Given the description of an element on the screen output the (x, y) to click on. 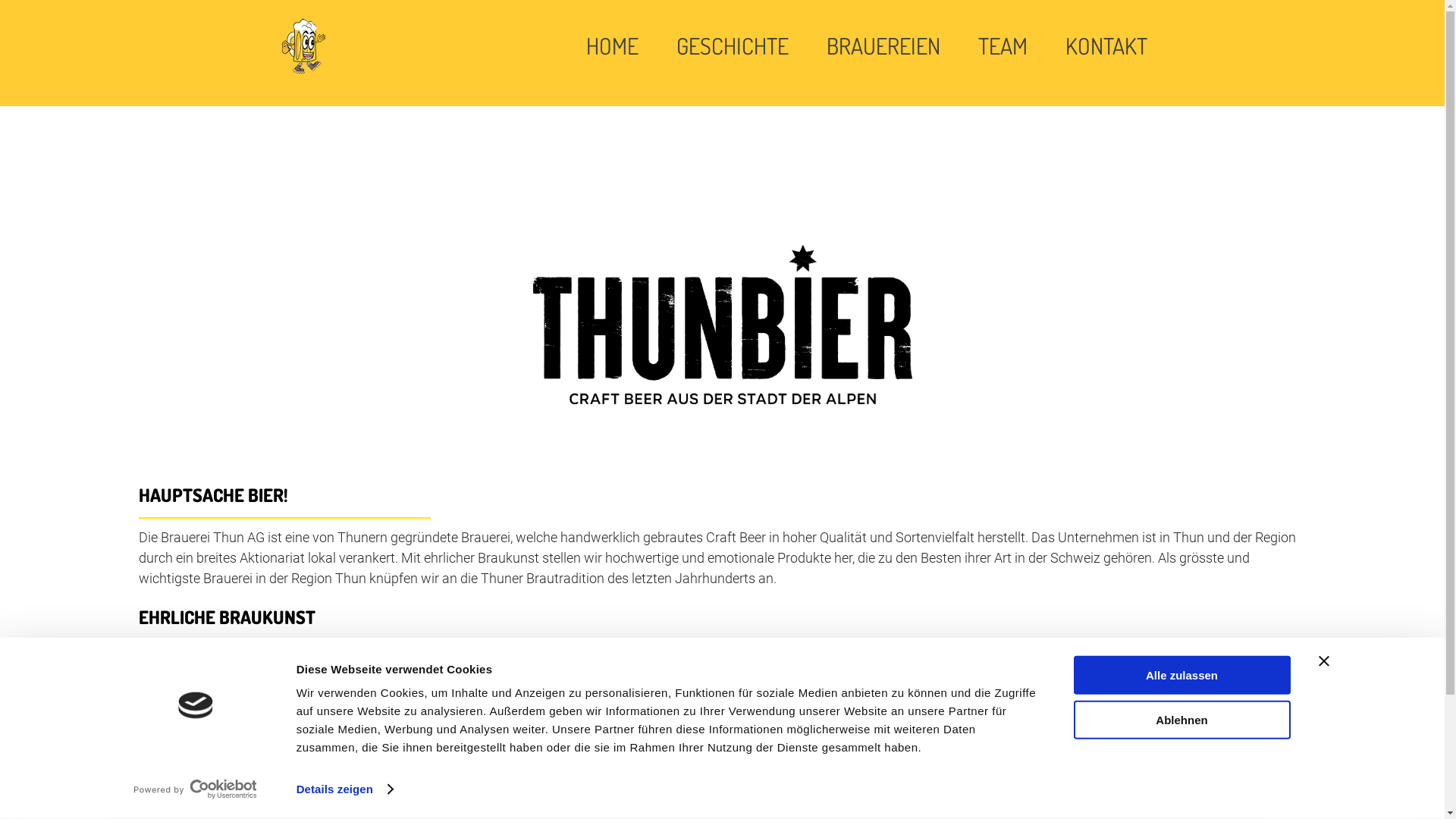
HOME Element type: text (612, 45)
Details zeigen Element type: text (344, 789)
logo Element type: hover (302, 45)
KONTAKT Element type: text (1106, 45)
Thunbier_Logo2022_Schwarz Element type: hover (721, 323)
TEAM Element type: text (1002, 45)
BRAUEREIEN Element type: text (883, 45)
Ablehnen Element type: text (1181, 718)
GESCHICHTE Element type: text (732, 45)
Alle zulassen Element type: text (1181, 674)
